Given the description of an element on the screen output the (x, y) to click on. 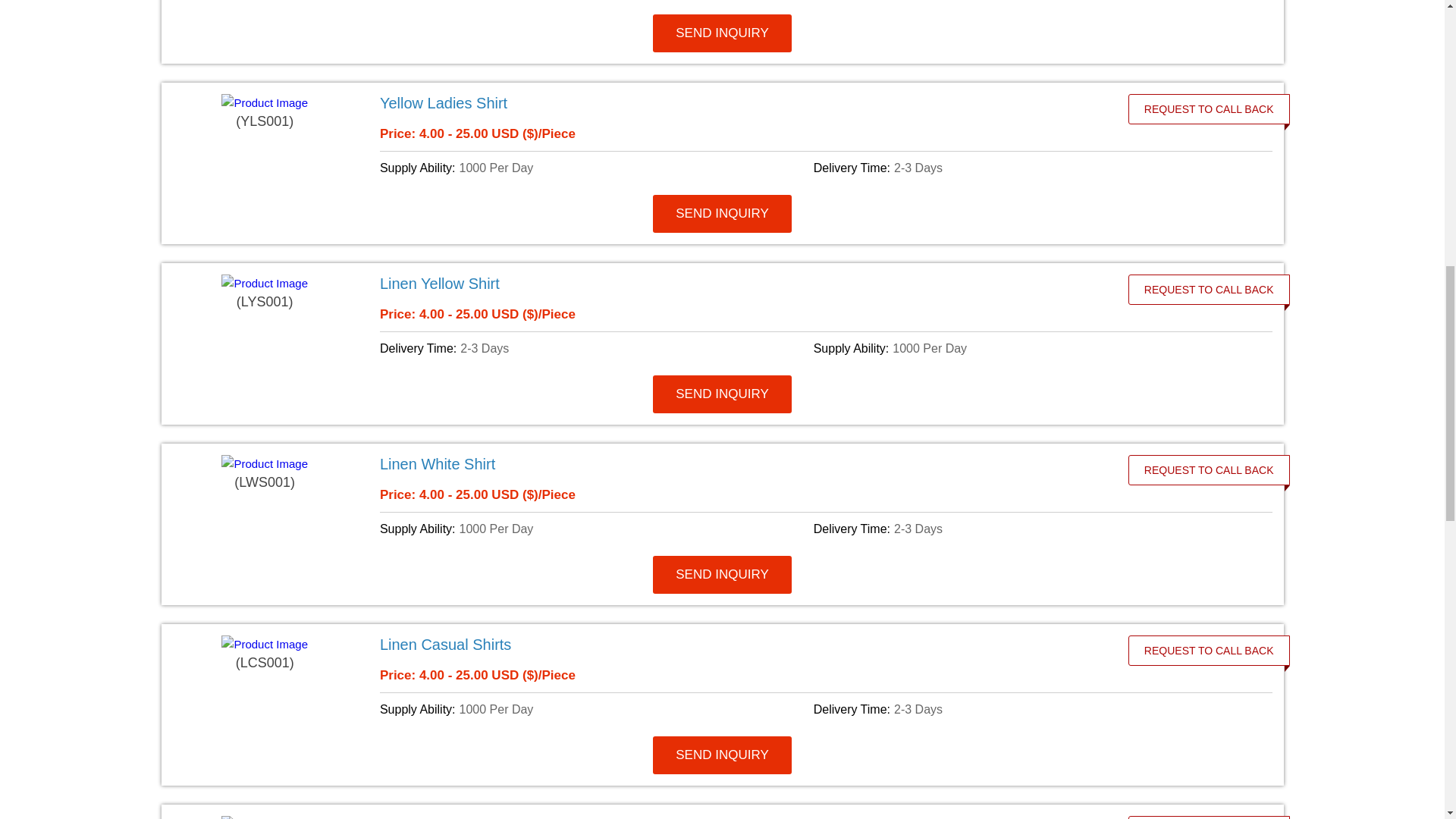
Supply Ability: 1000 Per Day (1027, 348)
Linen Yellow Shirt (736, 283)
Yellow Ladies Shirt (736, 103)
Linen White Shirt (736, 464)
Delivery Time: 2-3 Days (1027, 529)
Delivery Time: 2-3 Days (1027, 167)
Supply Ability: 1000 Per Day (594, 167)
Delivery Time: 2-3 Days (594, 348)
Supply Ability: 1000 Per Day (594, 529)
